Given the description of an element on the screen output the (x, y) to click on. 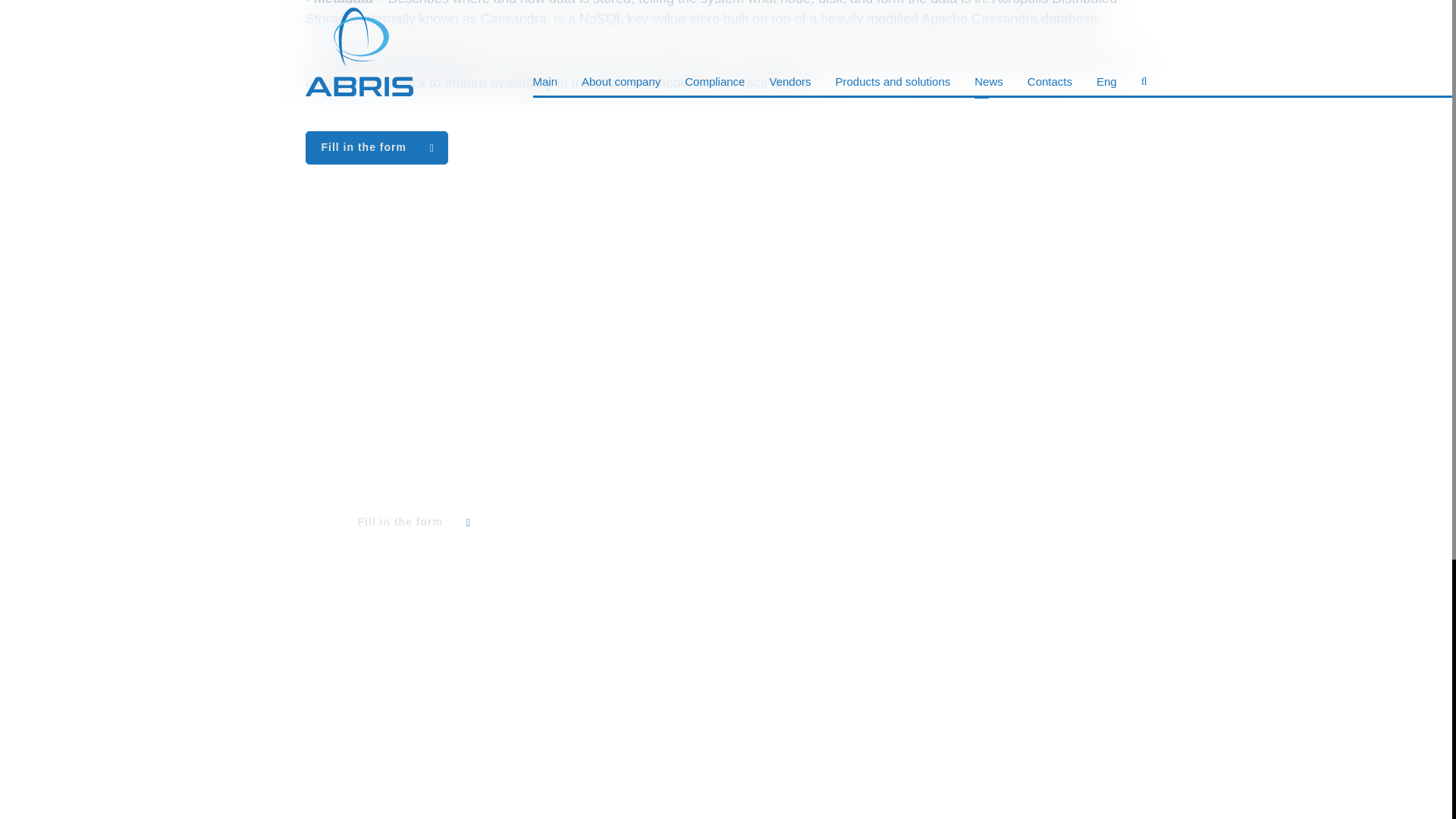
Fill in the form (375, 147)
Products and solutions (1078, 410)
Offices map (1110, 497)
Main (1131, 326)
Vendors (1121, 382)
Fill in the form (411, 522)
Contacts (1120, 438)
About company (1099, 354)
